Given the description of an element on the screen output the (x, y) to click on. 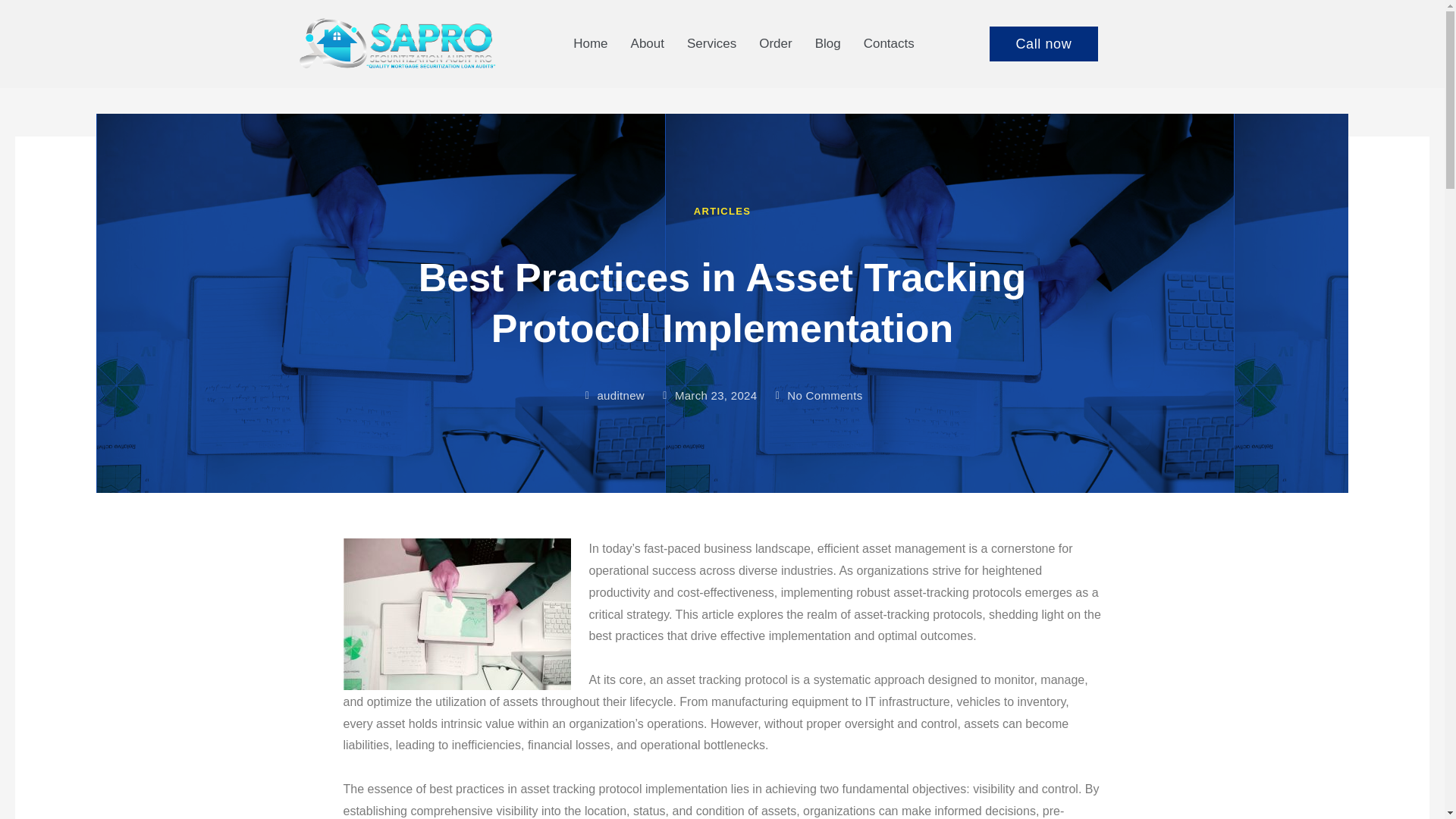
Call now (1042, 43)
ARTICLES (722, 211)
March 23, 2024 (708, 395)
Order (775, 43)
Home (590, 43)
Blog (827, 43)
auditnew (611, 395)
Services (711, 43)
No Comments (816, 395)
About (647, 43)
Contacts (888, 43)
